Given the description of an element on the screen output the (x, y) to click on. 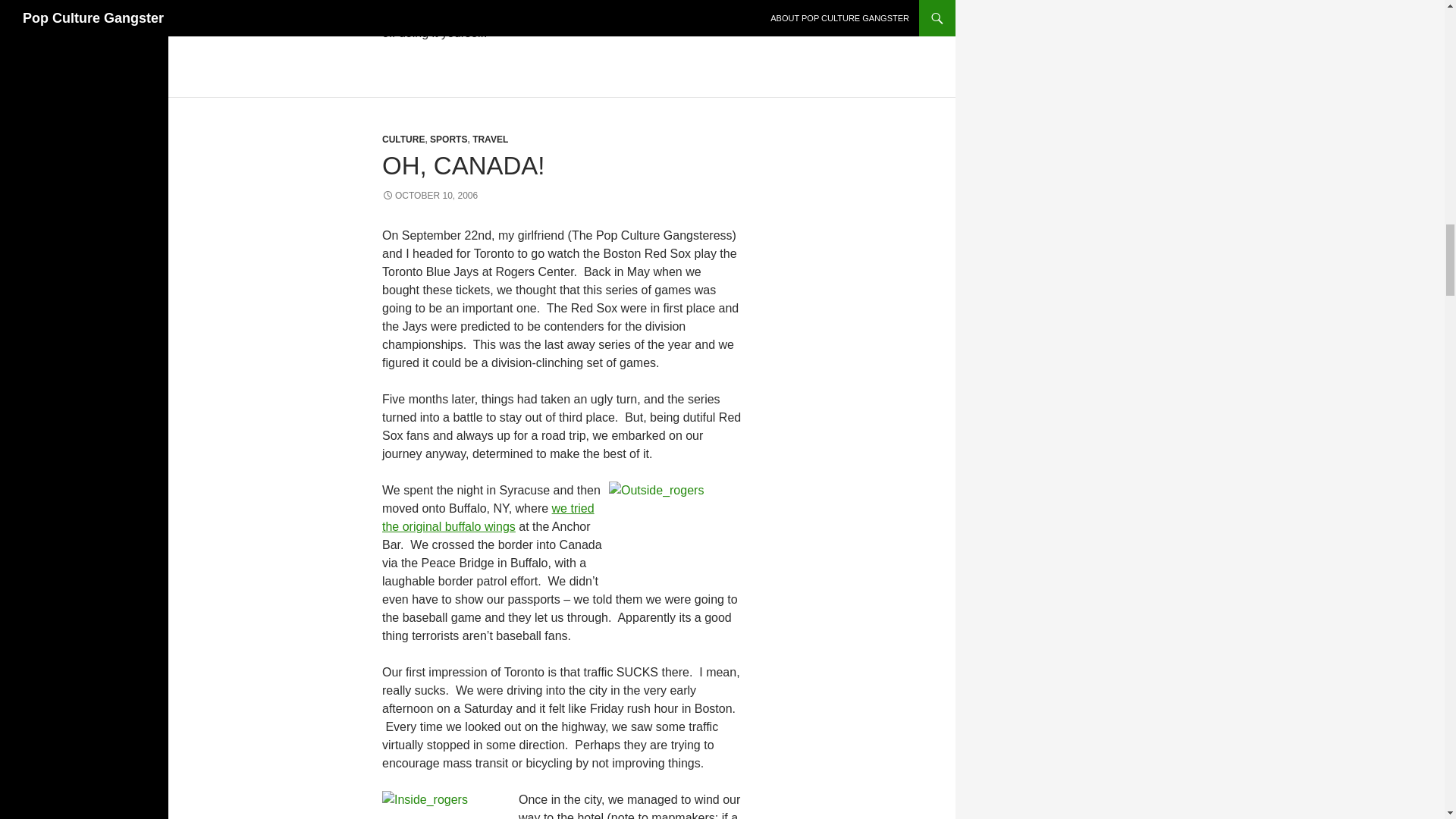
CULTURE (403, 139)
TRAVEL (489, 139)
SPORTS (448, 139)
OH, CANADA! (462, 165)
OCTOBER 10, 2006 (429, 195)
